Given the description of an element on the screen output the (x, y) to click on. 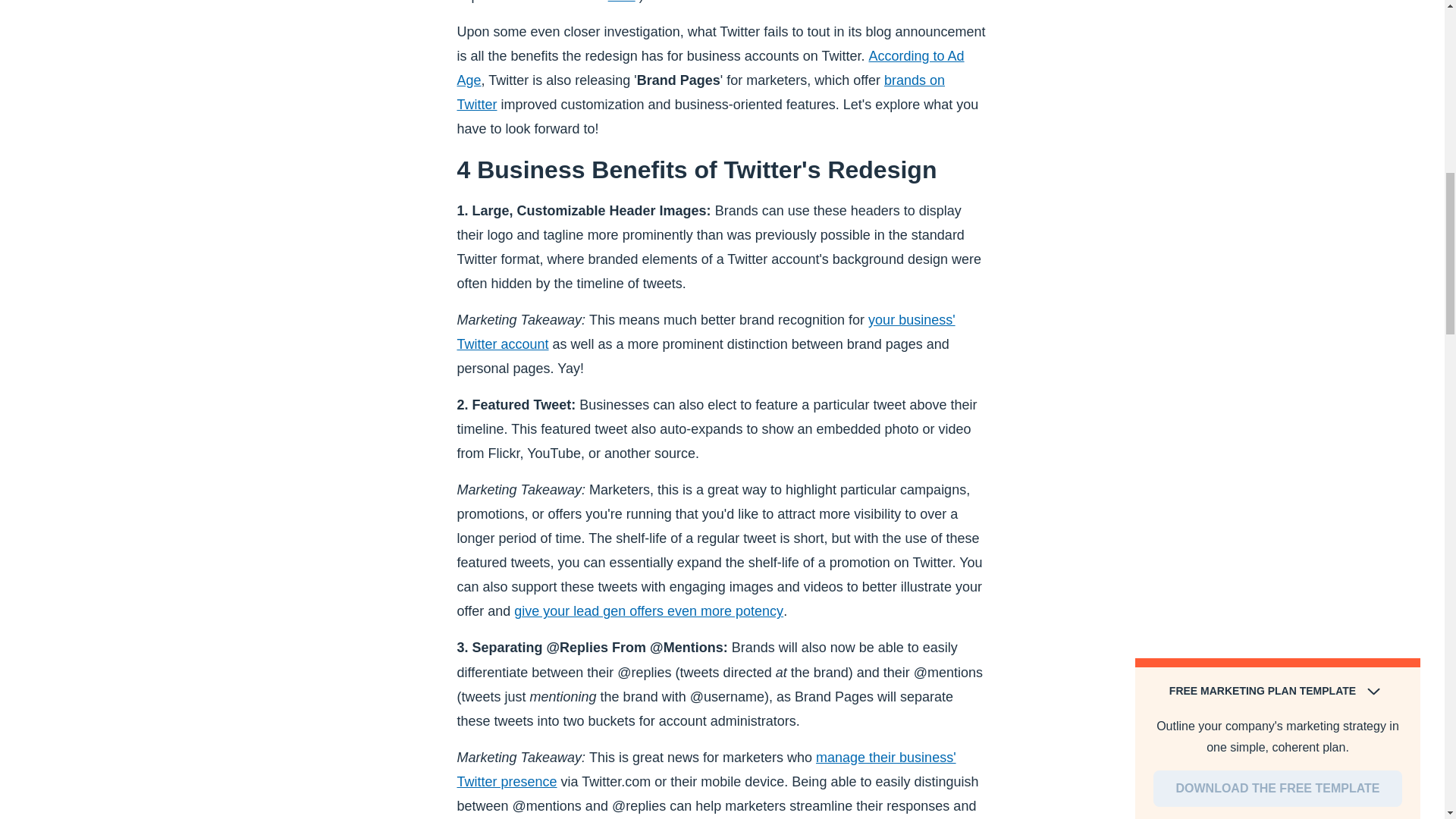
your business' Twitter account (706, 332)
brands on Twitter (700, 92)
give your lead gen offers even more potency (648, 611)
manage their business' Twitter presence (706, 769)
here (621, 1)
According to Ad Age (710, 67)
